Given the description of an element on the screen output the (x, y) to click on. 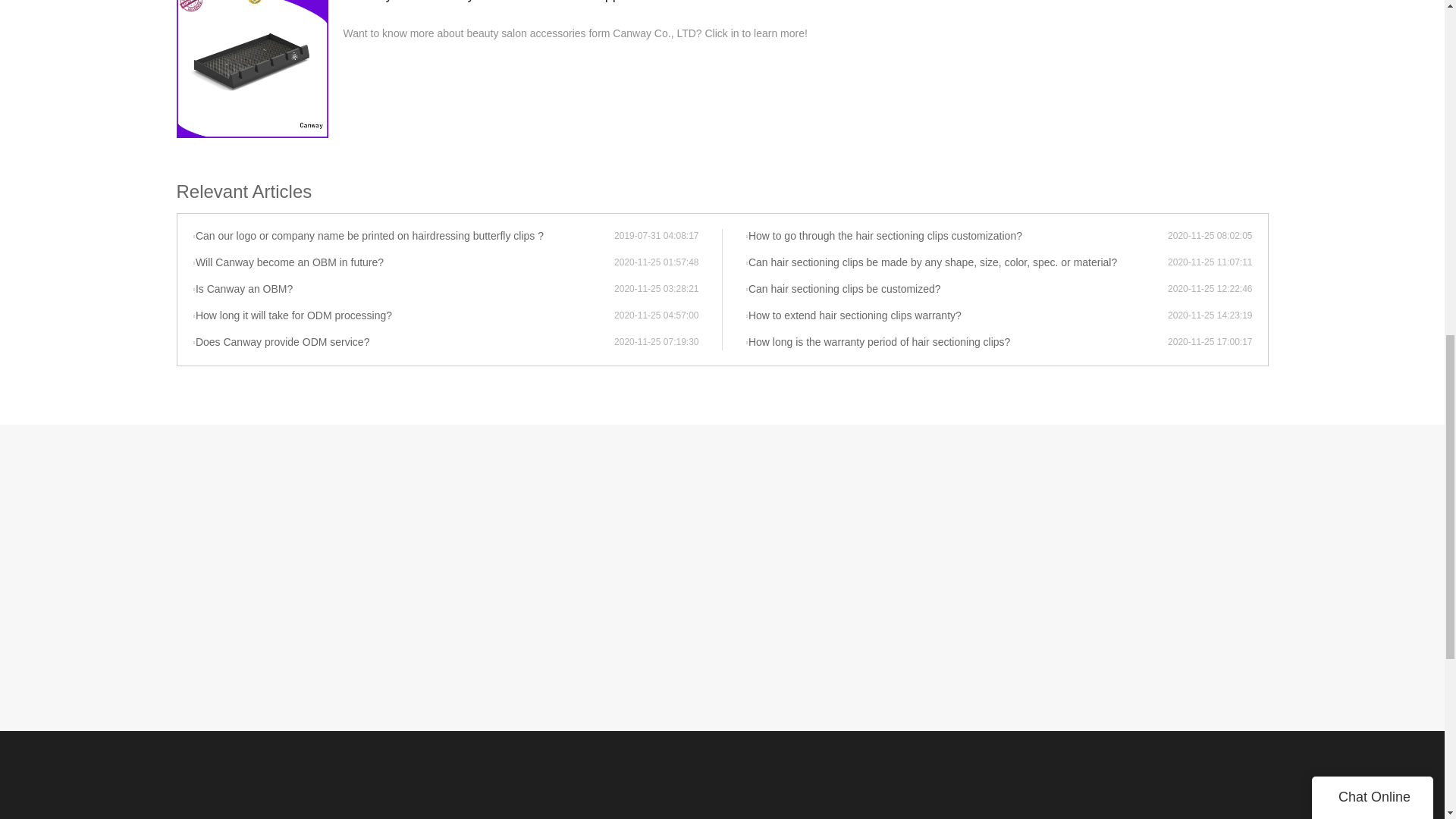
Is Canway an OBM? (403, 289)
How to go through the hair sectioning clips customization? (955, 236)
Will Canway become an OBM in future? (403, 263)
How long it will take for ODM processing? (403, 315)
Can hair sectioning clips be customized? (955, 289)
Does Canway provide ODM service? (403, 342)
How long is the warranty period of hair sectioning clips? (955, 342)
